Given the description of an element on the screen output the (x, y) to click on. 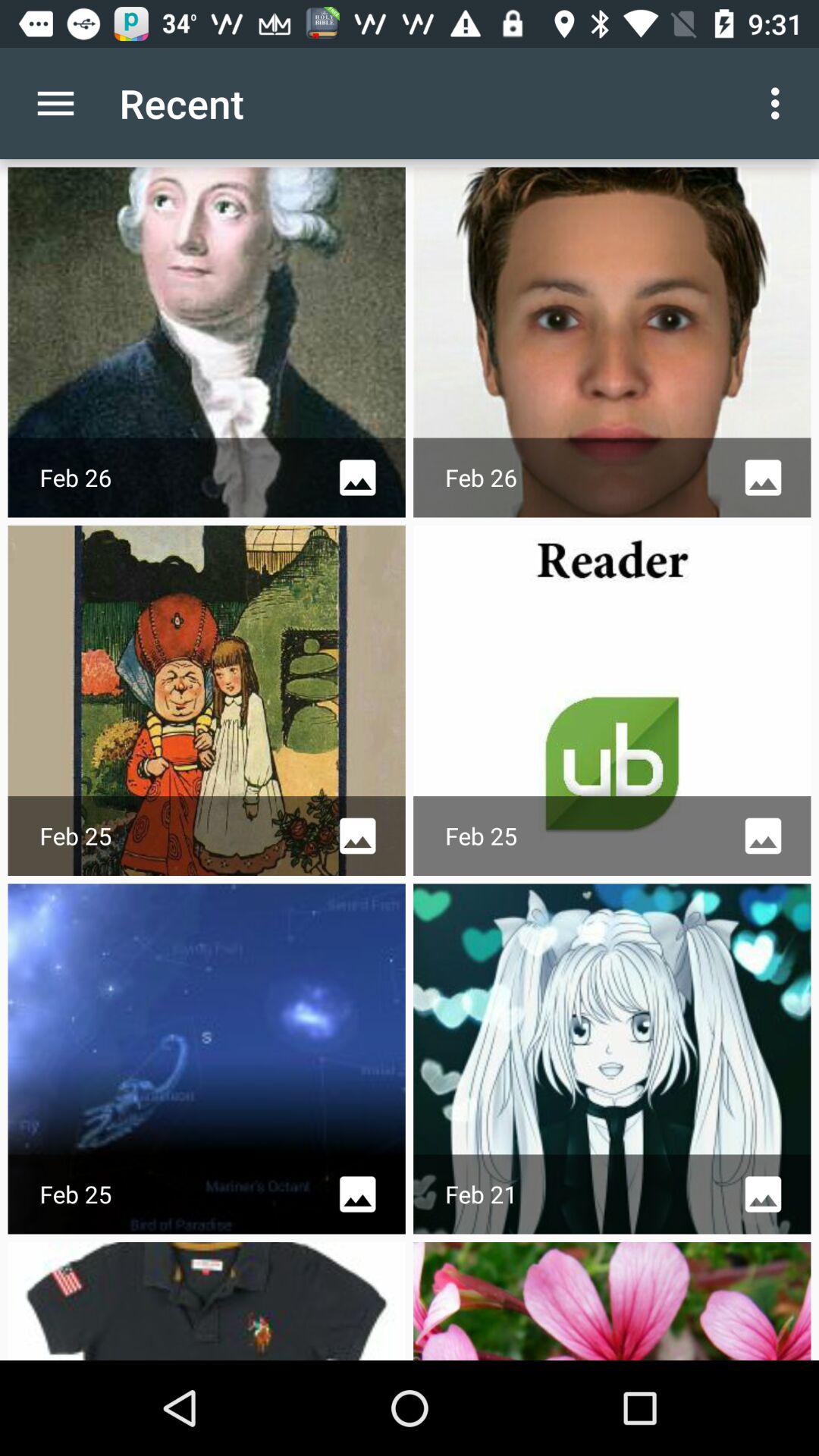
tap icon next to the recent item (779, 103)
